Given the description of an element on the screen output the (x, y) to click on. 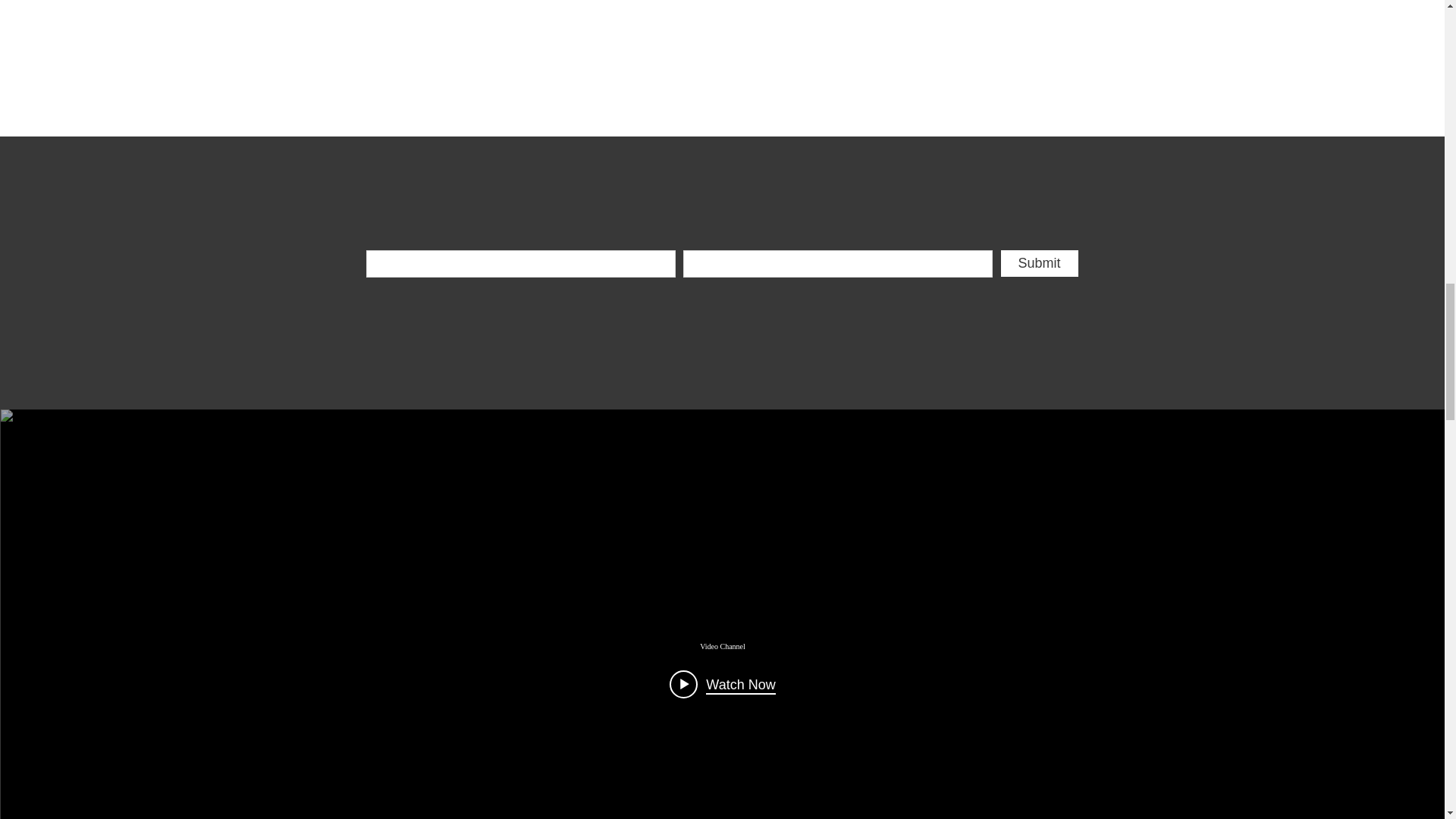
Video Channel (722, 646)
Watch Now (721, 684)
Submit (1039, 263)
